Given the description of an element on the screen output the (x, y) to click on. 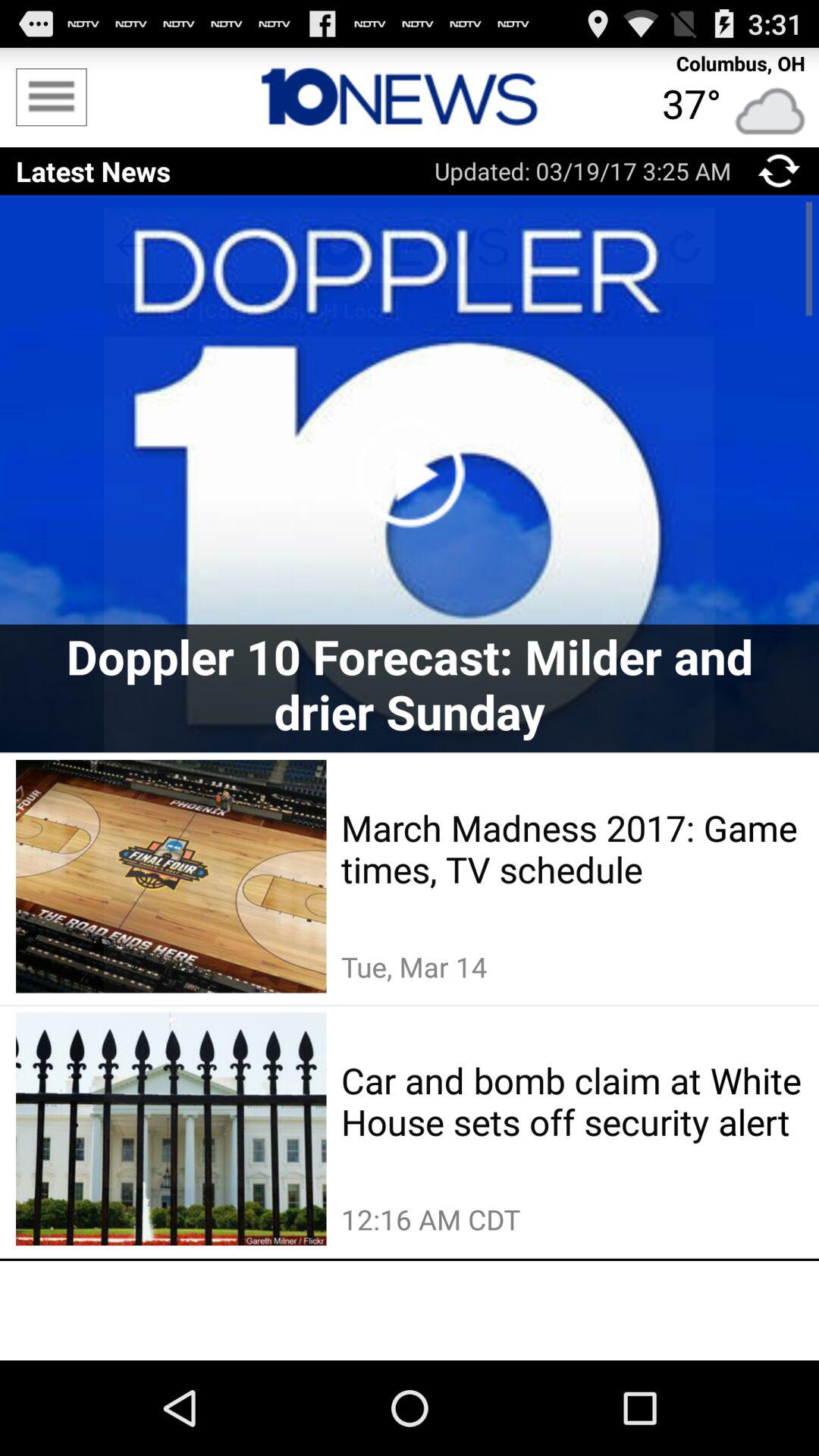
open icon next to columbus, oh item (409, 97)
